Given the description of an element on the screen output the (x, y) to click on. 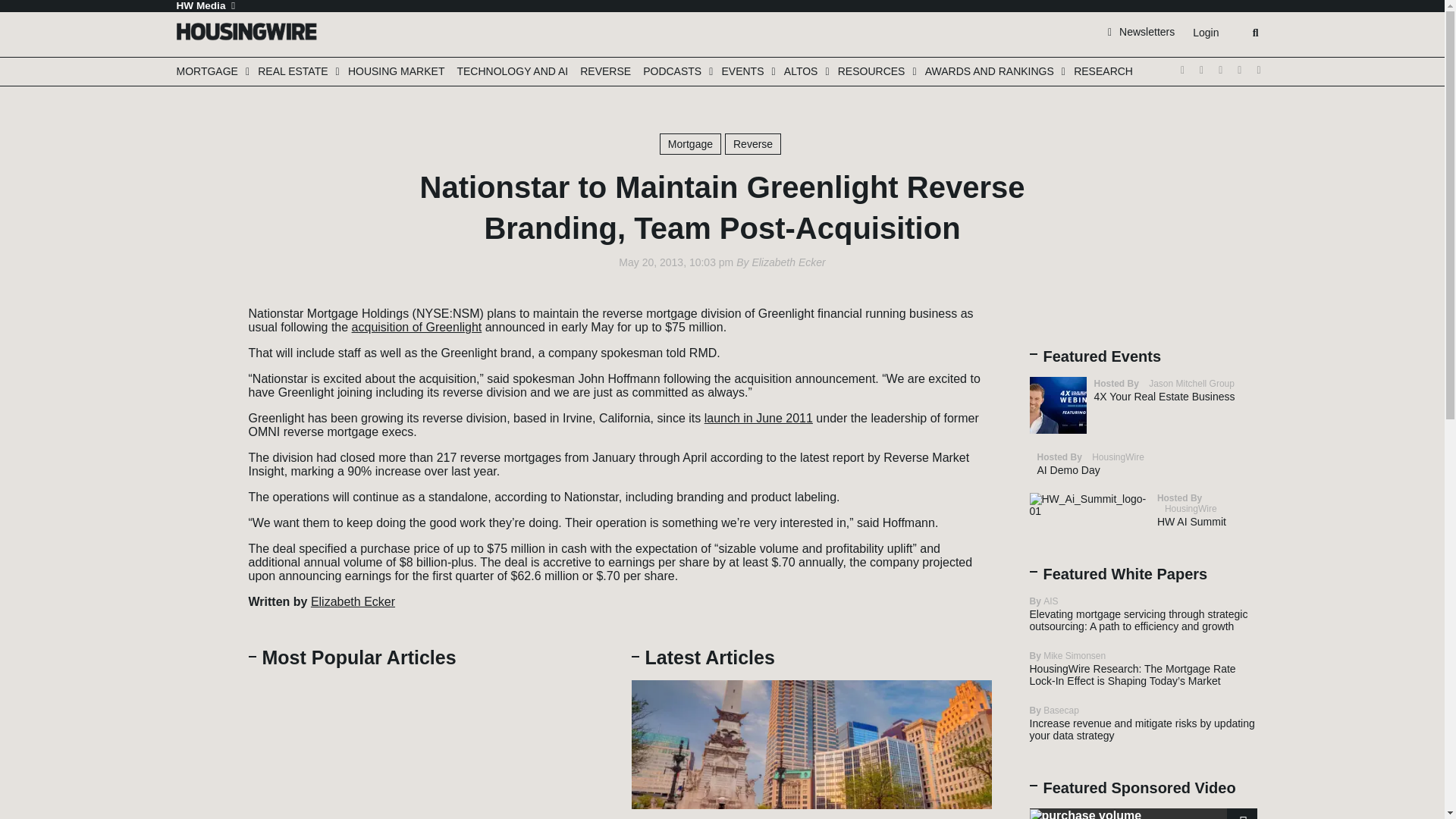
Click to copy link (203, 399)
Click to share on Facebook (203, 331)
Click to share on LinkedIn (203, 354)
Posts by Elizabeth Ecker (788, 262)
Newsletters (1141, 31)
Click to share on Twitter (203, 309)
Login (1205, 32)
Click to email a link to a friend (203, 377)
